Given the description of an element on the screen output the (x, y) to click on. 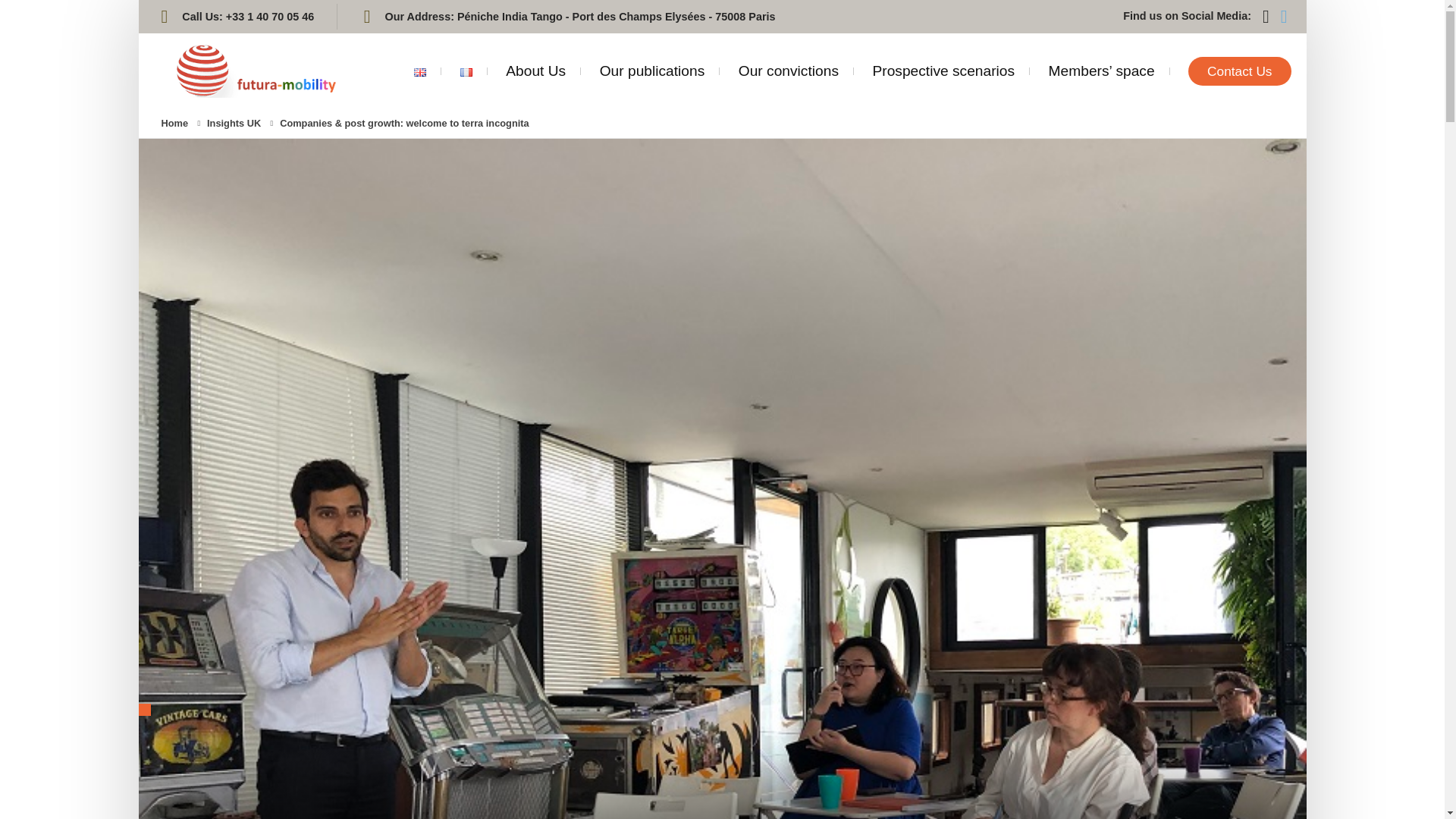
Home (173, 123)
Prospective scenarios (943, 70)
Contact Us (1239, 71)
About Us (535, 70)
View all posts in Insights UK (233, 123)
Our convictions (788, 70)
Our publications (651, 70)
Insights UK (233, 123)
